Given the description of an element on the screen output the (x, y) to click on. 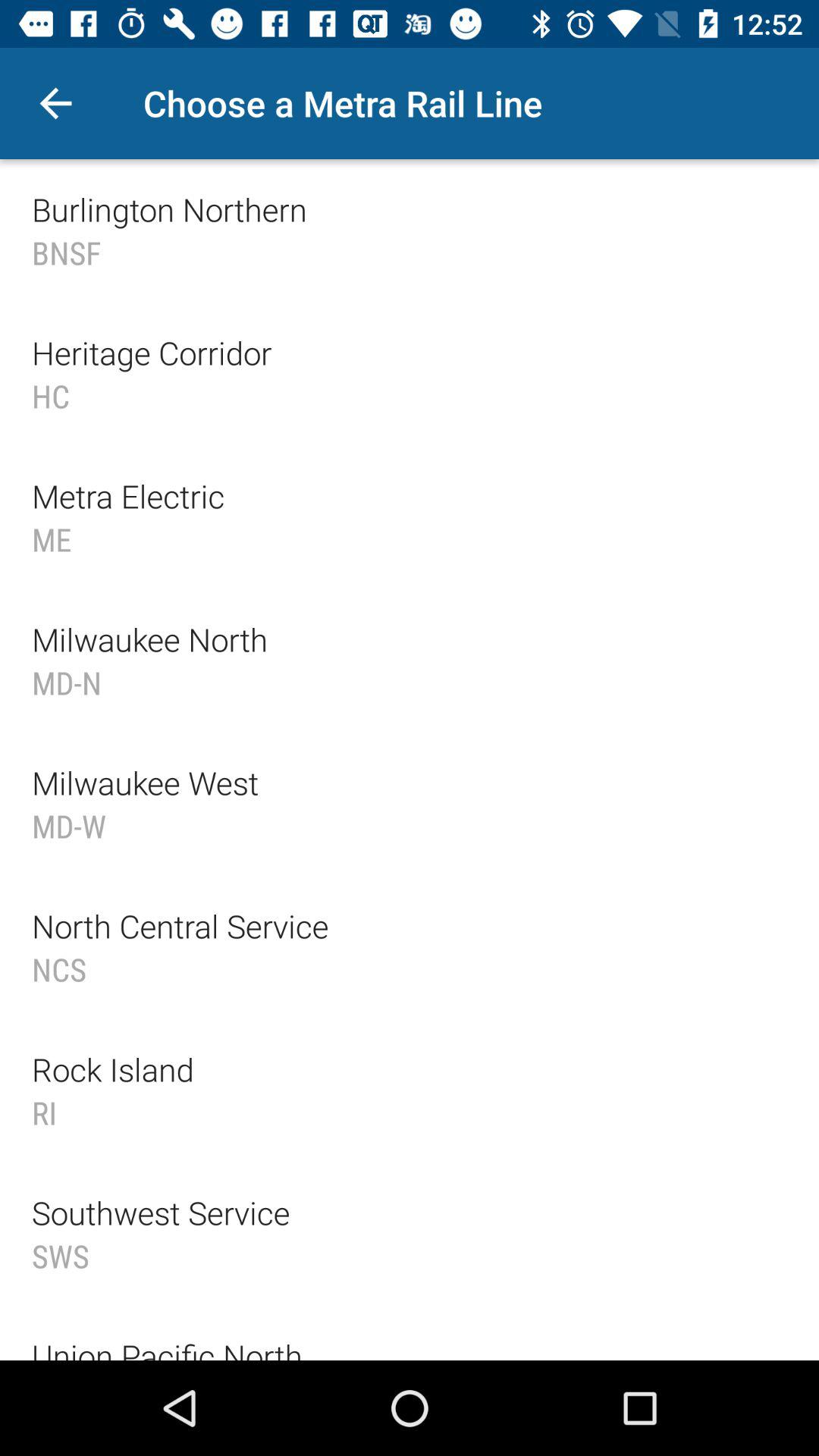
select item at the top left corner (55, 103)
